Given the description of an element on the screen output the (x, y) to click on. 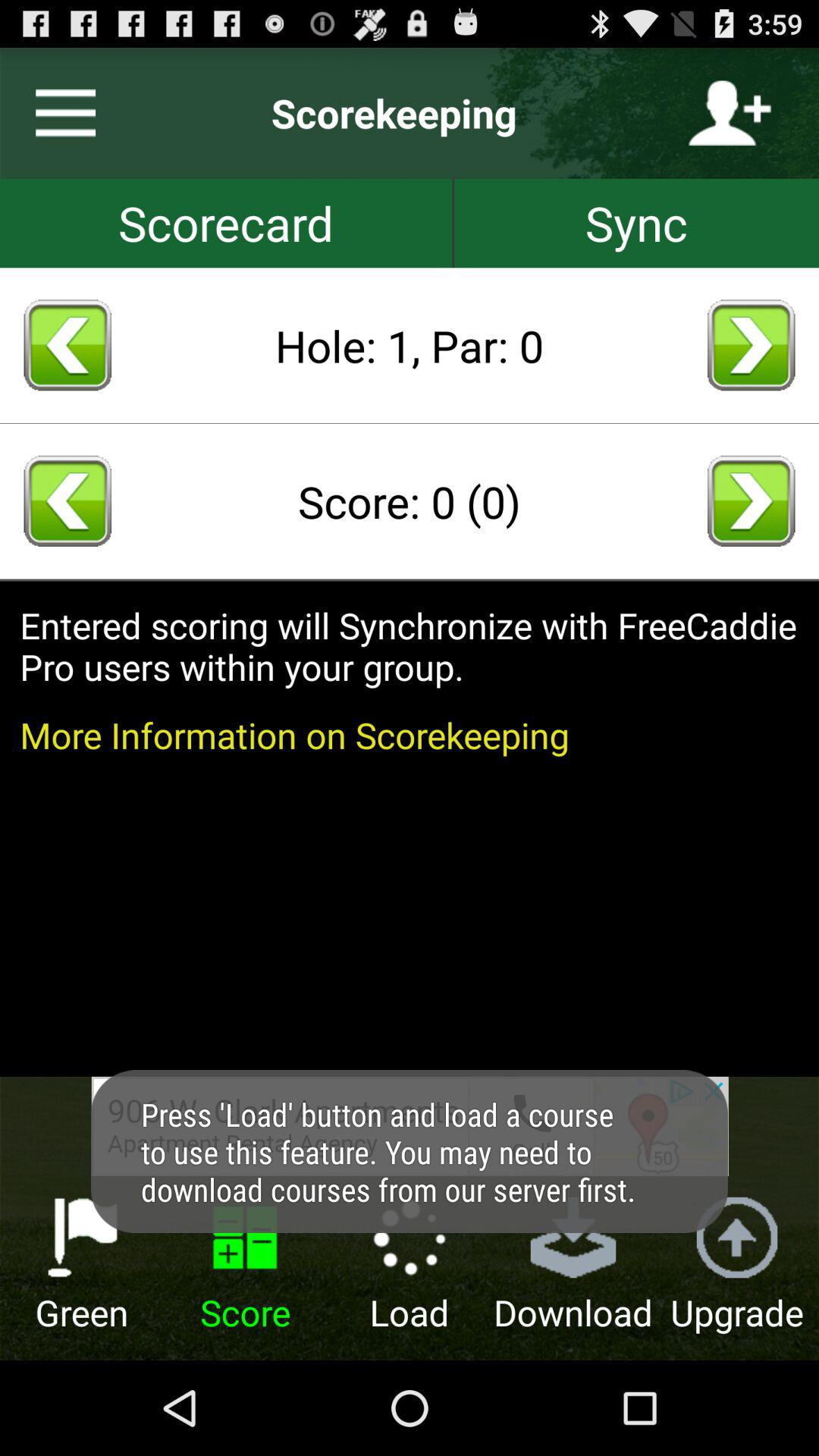
switch to main menu (59, 112)
